Given the description of an element on the screen output the (x, y) to click on. 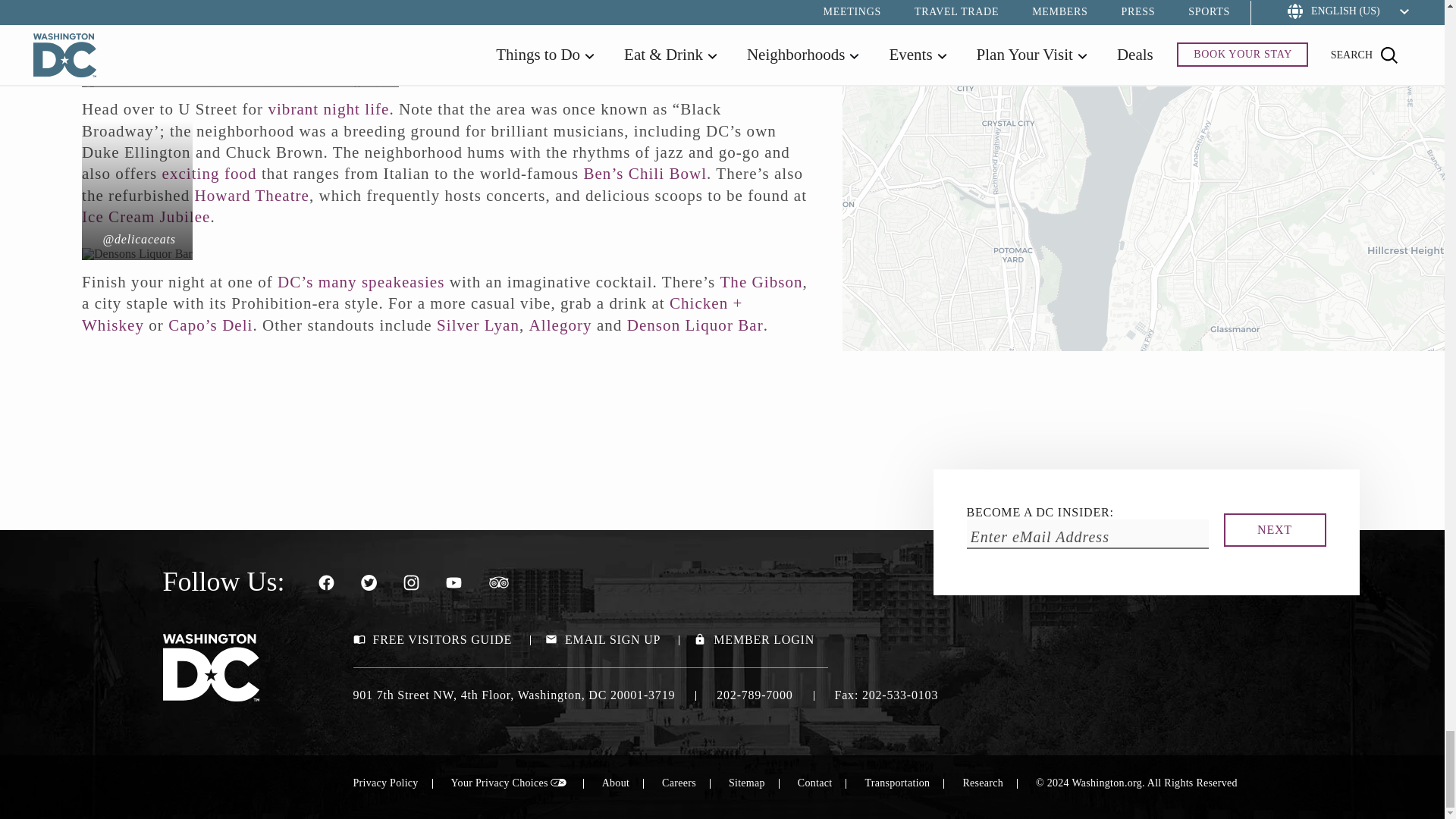
NEXT (1275, 530)
